Given the description of an element on the screen output the (x, y) to click on. 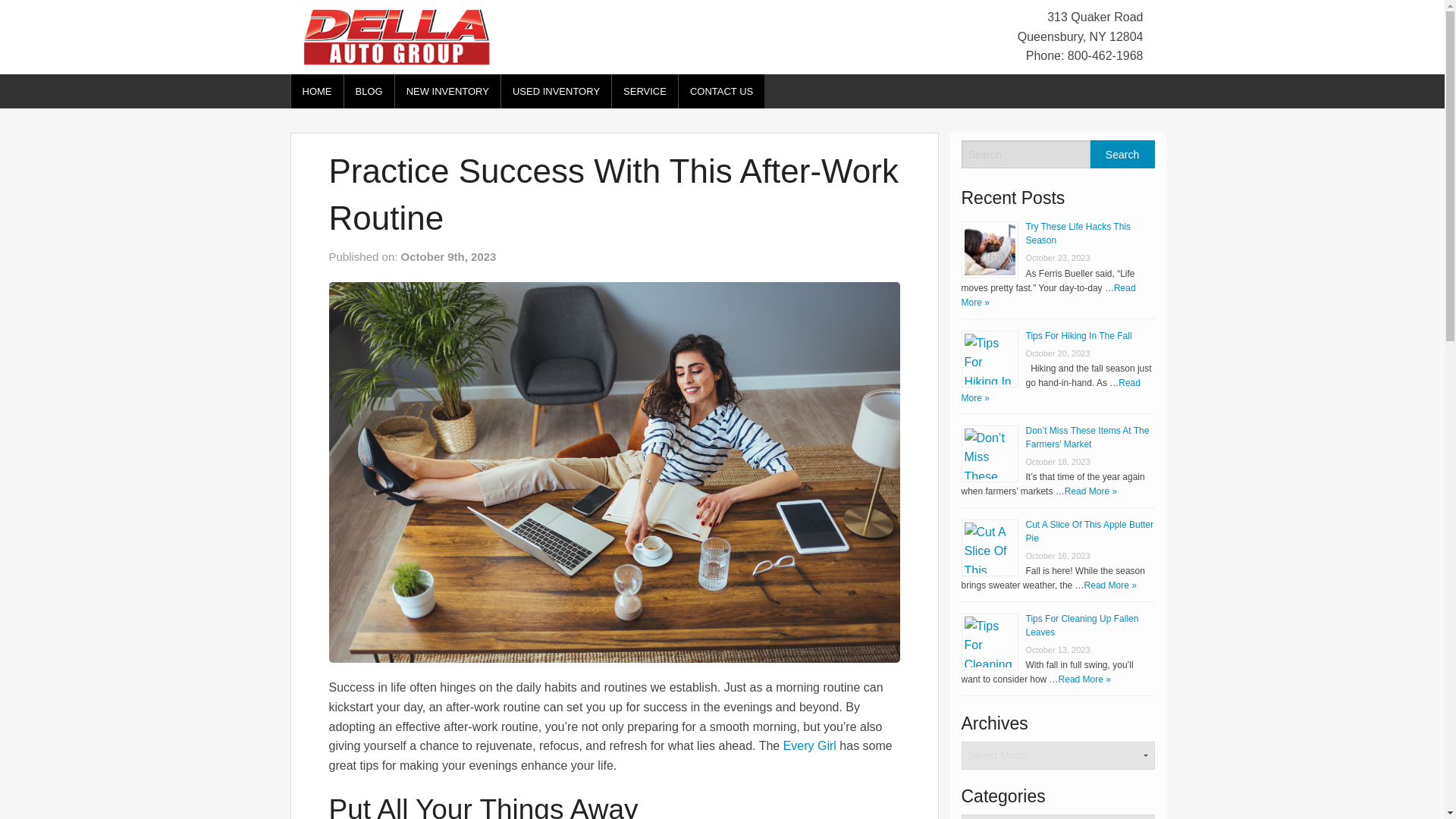
Della Auto Group (396, 35)
USED INVENTORY (555, 91)
Tips For Hiking In The Fall (1078, 335)
CONTACT US (721, 91)
Try These Life Hacks This Season (1078, 233)
Search (1122, 154)
Cut A Slice Of This Apple Butter Pie (1089, 531)
HOME (317, 91)
Search (1122, 154)
Every Girl (809, 745)
NEW INVENTORY (447, 91)
SERVICE (644, 91)
BLOG (368, 91)
Tips For Cleaning Up Fallen Leaves (1081, 625)
